Given the description of an element on the screen output the (x, y) to click on. 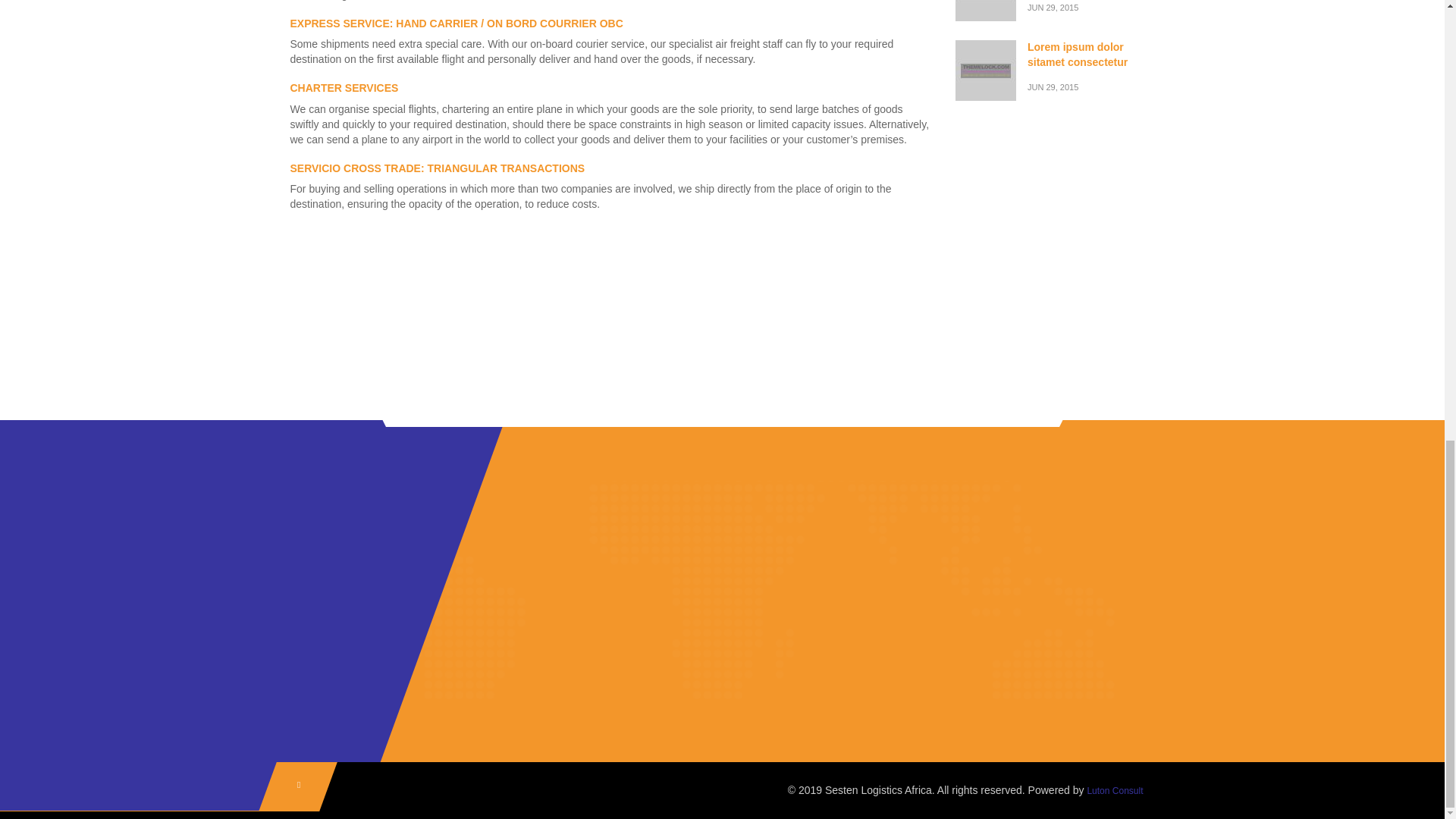
Lorem ipsum dolor sitamet consectetur (1127, 66)
Lorem ipsum dolor sitamet consectetur (1127, 6)
